Given the description of an element on the screen output the (x, y) to click on. 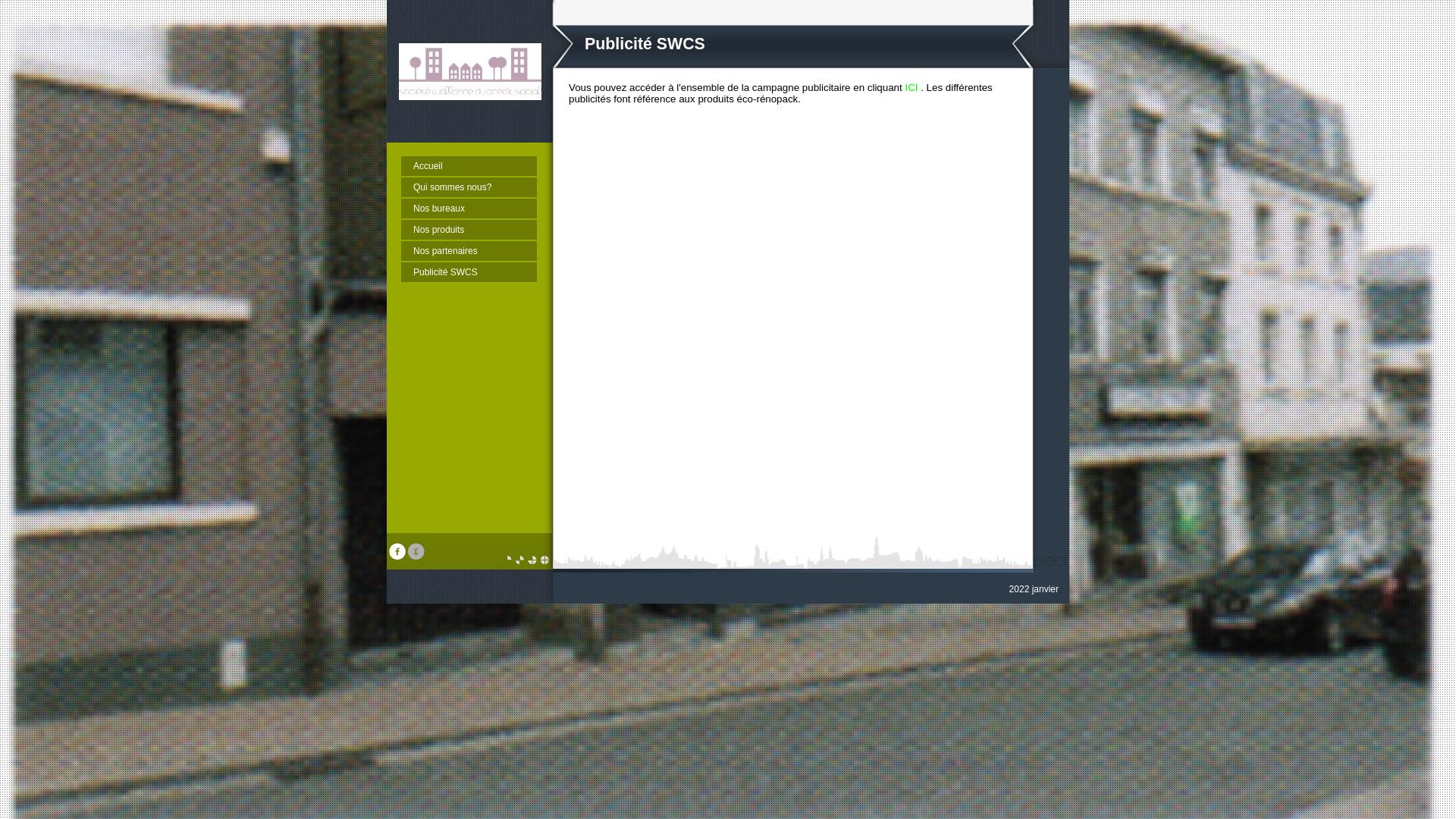
Nos bureaux Element type: text (468, 208)
  Element type: text (398, 555)
Nos partenaires Element type: text (468, 250)
Accueil Element type: text (468, 165)
  Element type: text (417, 555)
Qui sommes nous? Element type: text (468, 186)
cliquant ICI . Element type: text (895, 87)
Nos produits Element type: text (468, 229)
